Given the description of an element on the screen output the (x, y) to click on. 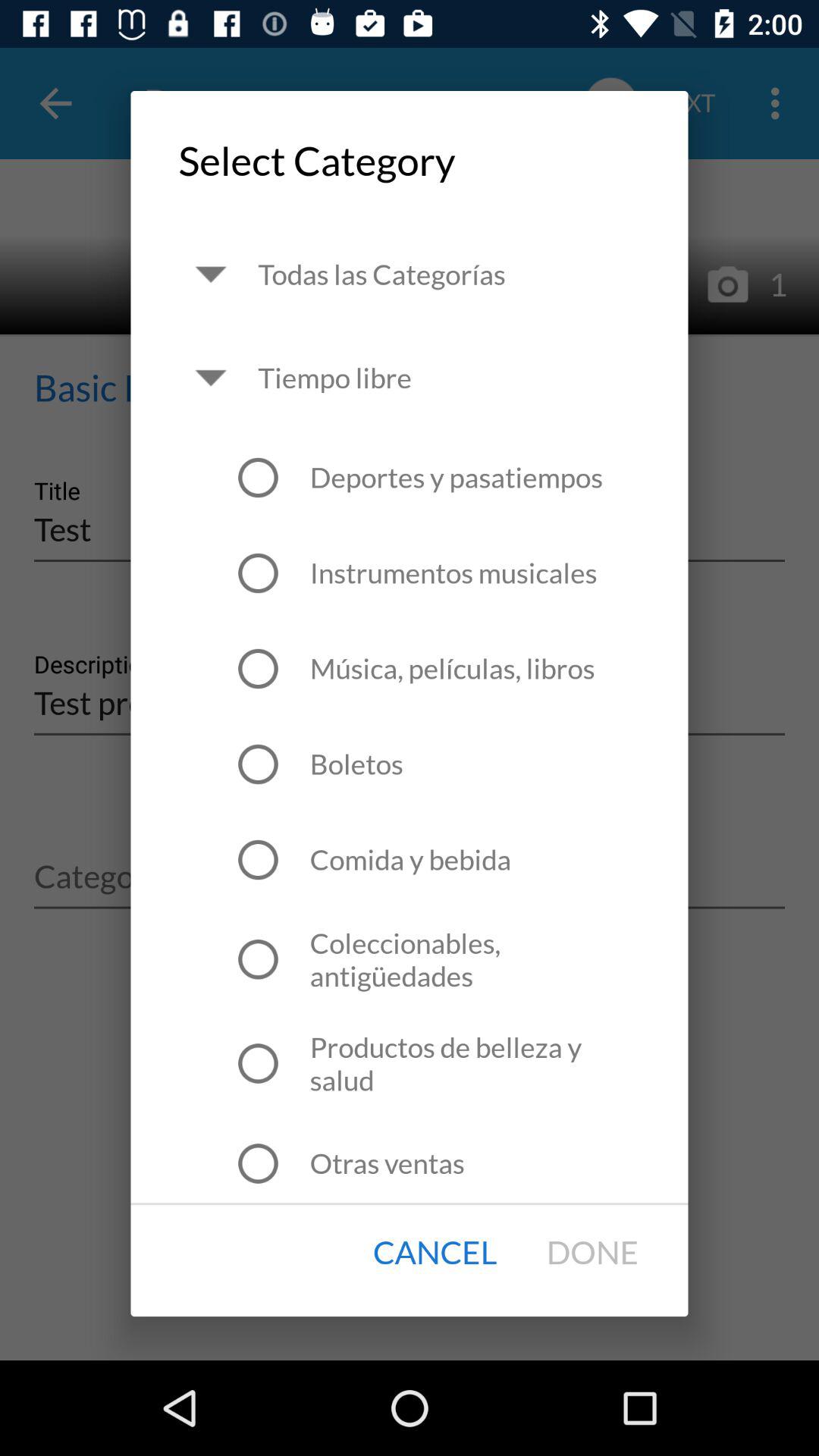
turn off the icon above the boletos item (451, 668)
